Given the description of an element on the screen output the (x, y) to click on. 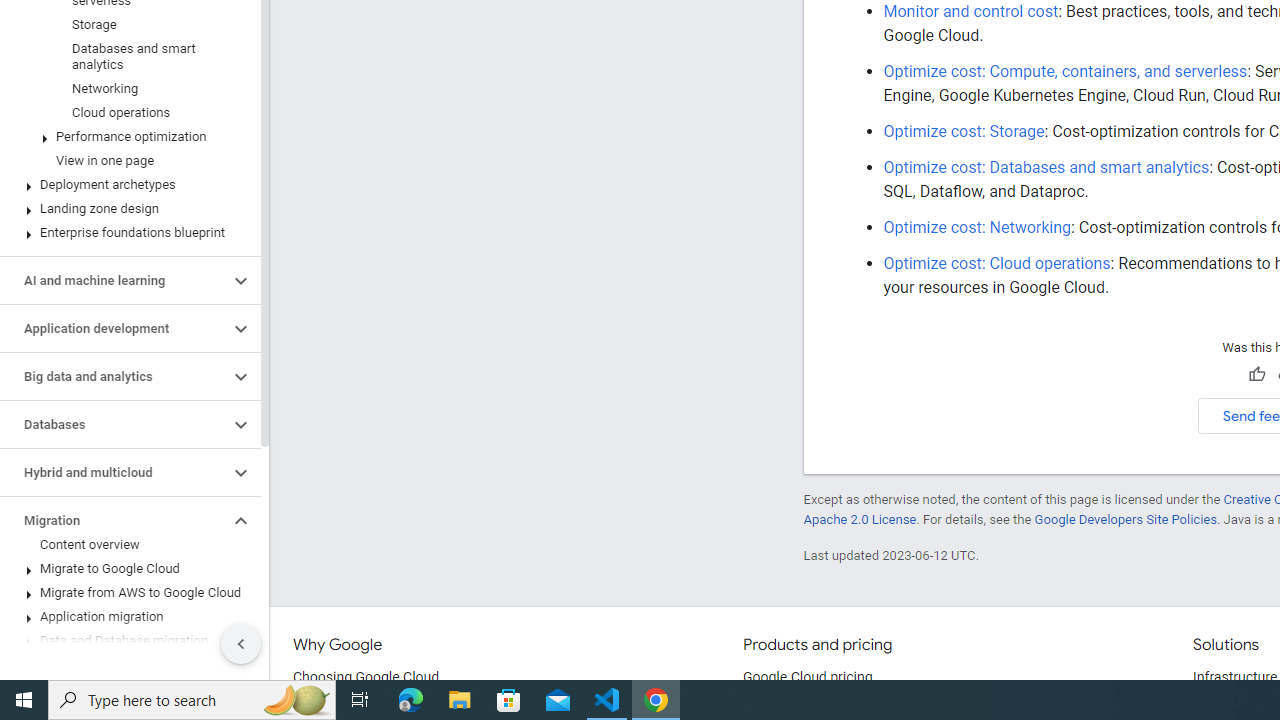
Migrate from AWS to Google Cloud (126, 592)
Application development (114, 328)
Data and Database migration (126, 641)
Landing zone design (126, 209)
